Given the description of an element on the screen output the (x, y) to click on. 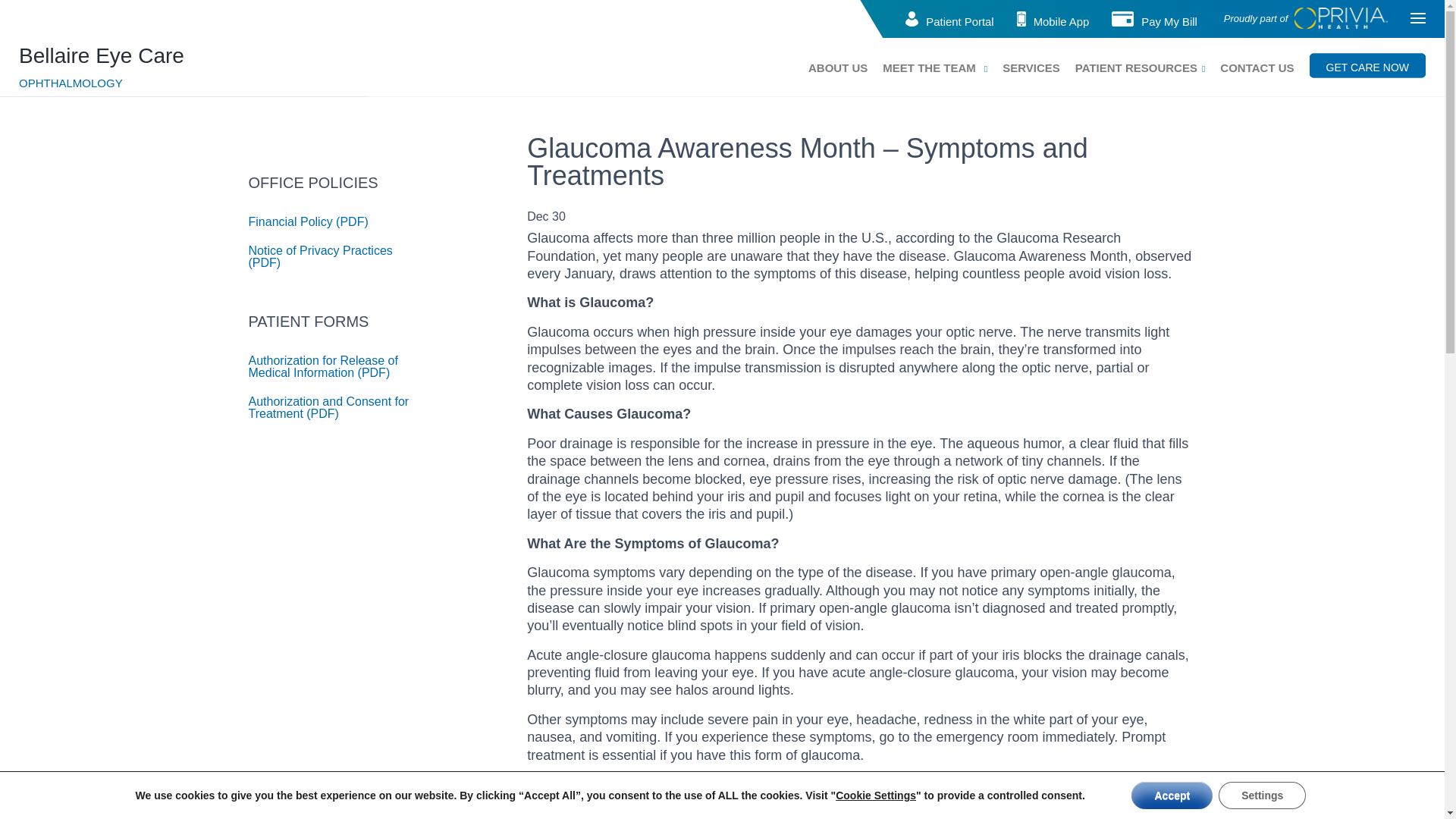
Mobile App (1061, 21)
MEET THE TEAM (928, 66)
GET CARE NOW (1366, 64)
CONTACT US (1257, 66)
Pay My Bill (1168, 21)
PATIENT RESOURCES (1135, 66)
ABOUT US (837, 66)
Bellaire Eye Care (101, 55)
SERVICES (1031, 66)
Patient Portal (959, 21)
